Given the description of an element on the screen output the (x, y) to click on. 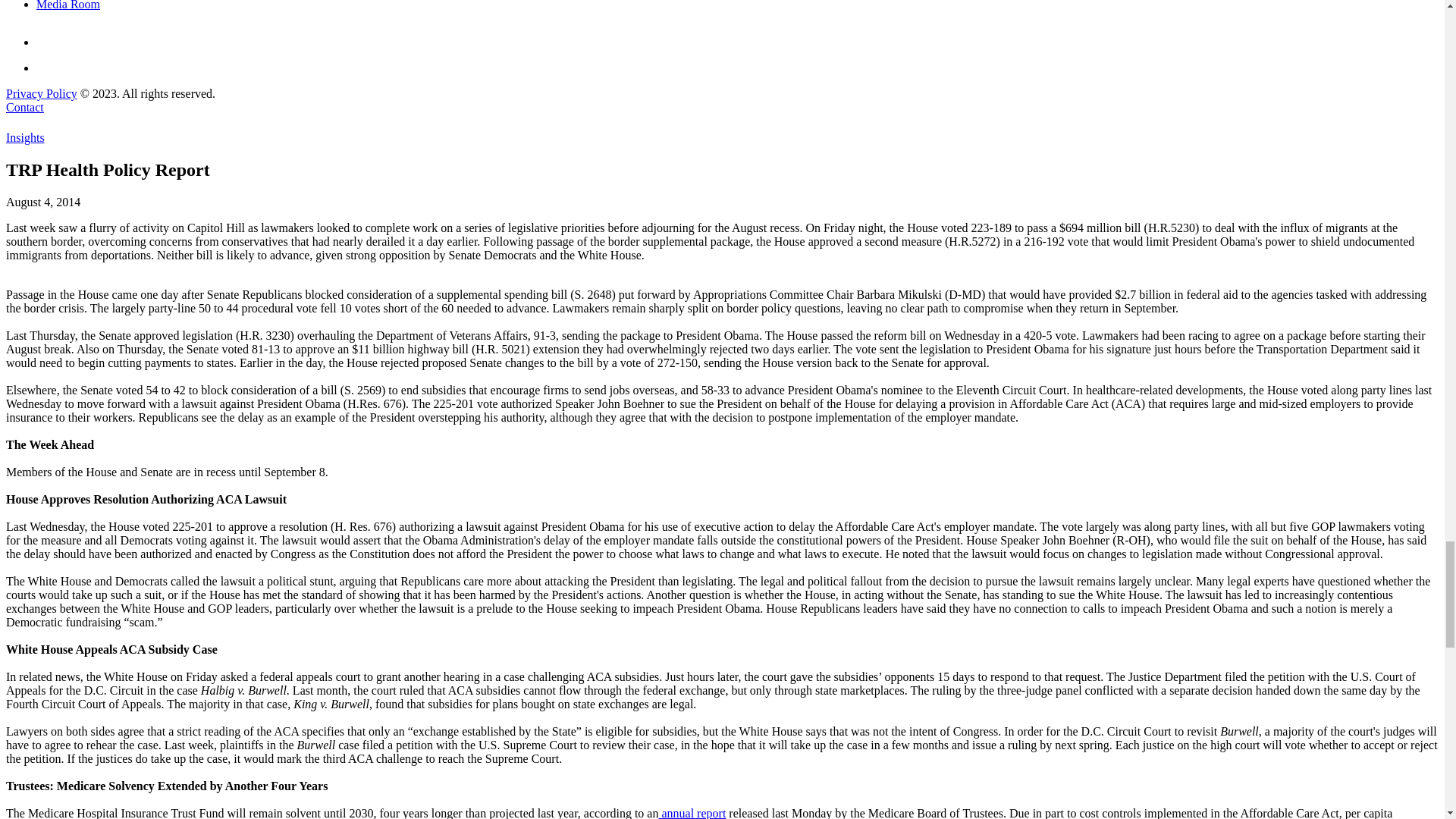
Contact (24, 106)
annual report (691, 812)
Media Room (68, 5)
Privacy Policy (41, 92)
